Given the description of an element on the screen output the (x, y) to click on. 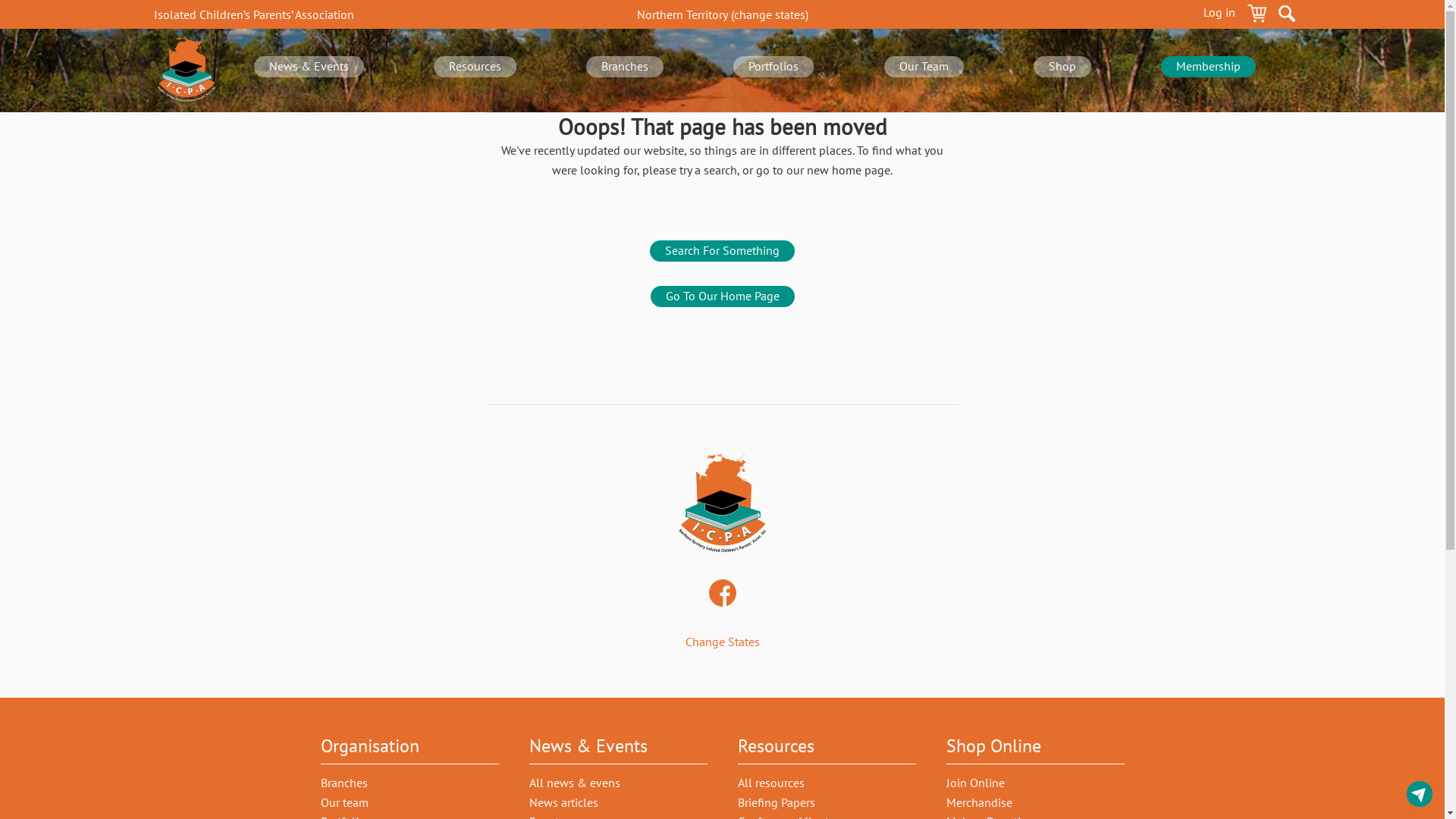
All resources Element type: text (770, 782)
News articles Element type: text (563, 801)
Membership Element type: text (1208, 66)
Our Team Element type: text (923, 66)
Branches Element type: text (624, 66)
Briefing Papers Element type: text (775, 801)
Follow us on Facebook Element type: hover (721, 594)
Shop Element type: text (1062, 66)
Contact us Element type: text (1419, 793)
Go To Our Home Page Element type: text (722, 296)
Branches Element type: text (343, 782)
News & Events Element type: text (309, 66)
Our team Element type: text (343, 801)
Portfolios Element type: text (773, 66)
Search For Something Element type: text (721, 250)
Search Element type: hover (1286, 15)
Join Online Element type: text (975, 782)
All news & evens Element type: text (574, 782)
Merchandise Element type: text (979, 801)
ICPA Northern Territory Element type: hover (185, 70)
Resources Element type: text (474, 66)
Skip to main content Element type: text (0, 0)
Change States Element type: text (722, 641)
Log in Element type: text (1219, 15)
ICPA Northern Territory Element type: hover (722, 504)
View cart Element type: hover (1256, 15)
Northern Territory (change states) Element type: text (722, 13)
